Given the description of an element on the screen output the (x, y) to click on. 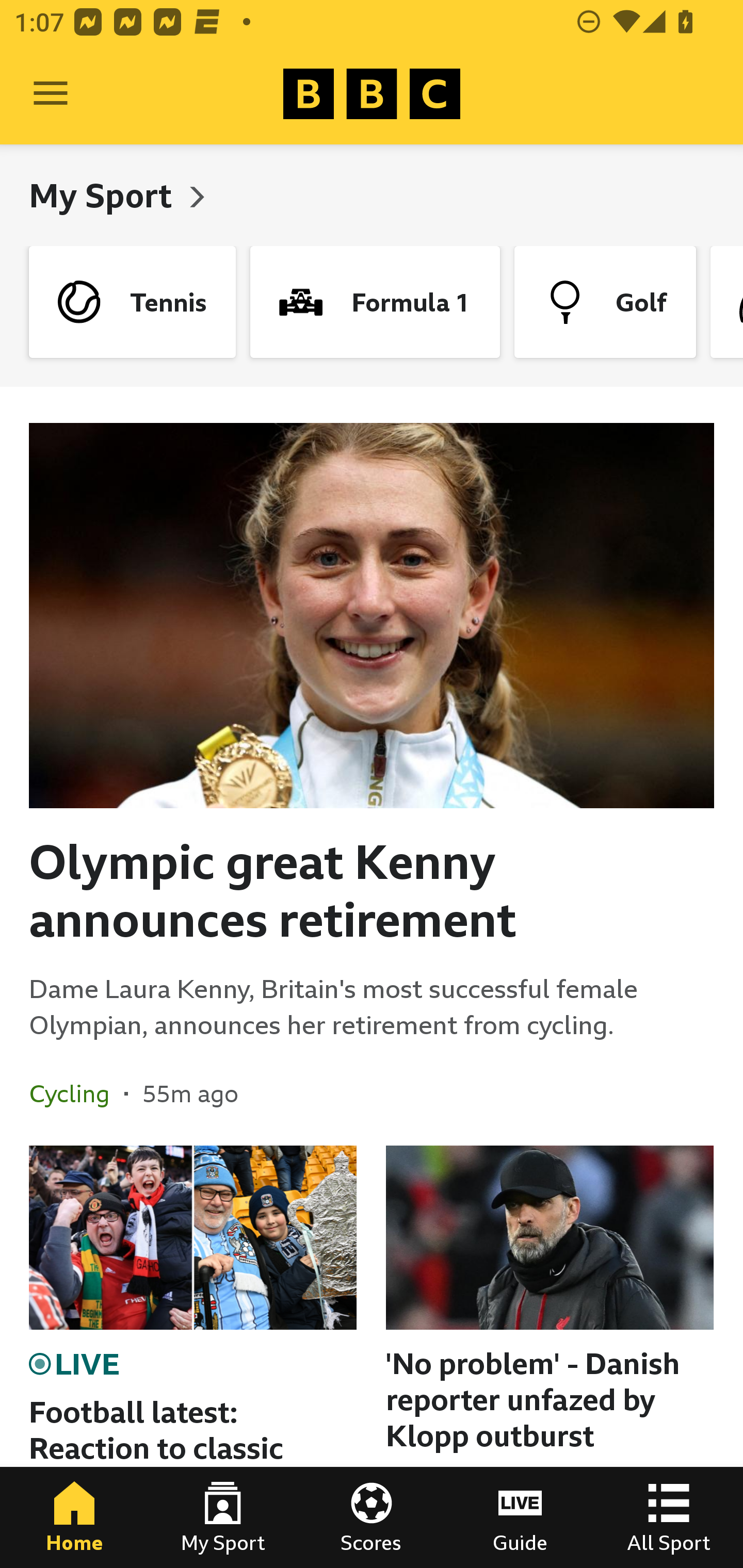
Open Menu (50, 93)
My Sport (104, 195)
Cycling In the section Cycling (76, 1093)
My Sport (222, 1517)
Scores (371, 1517)
Guide (519, 1517)
All Sport (668, 1517)
